Given the description of an element on the screen output the (x, y) to click on. 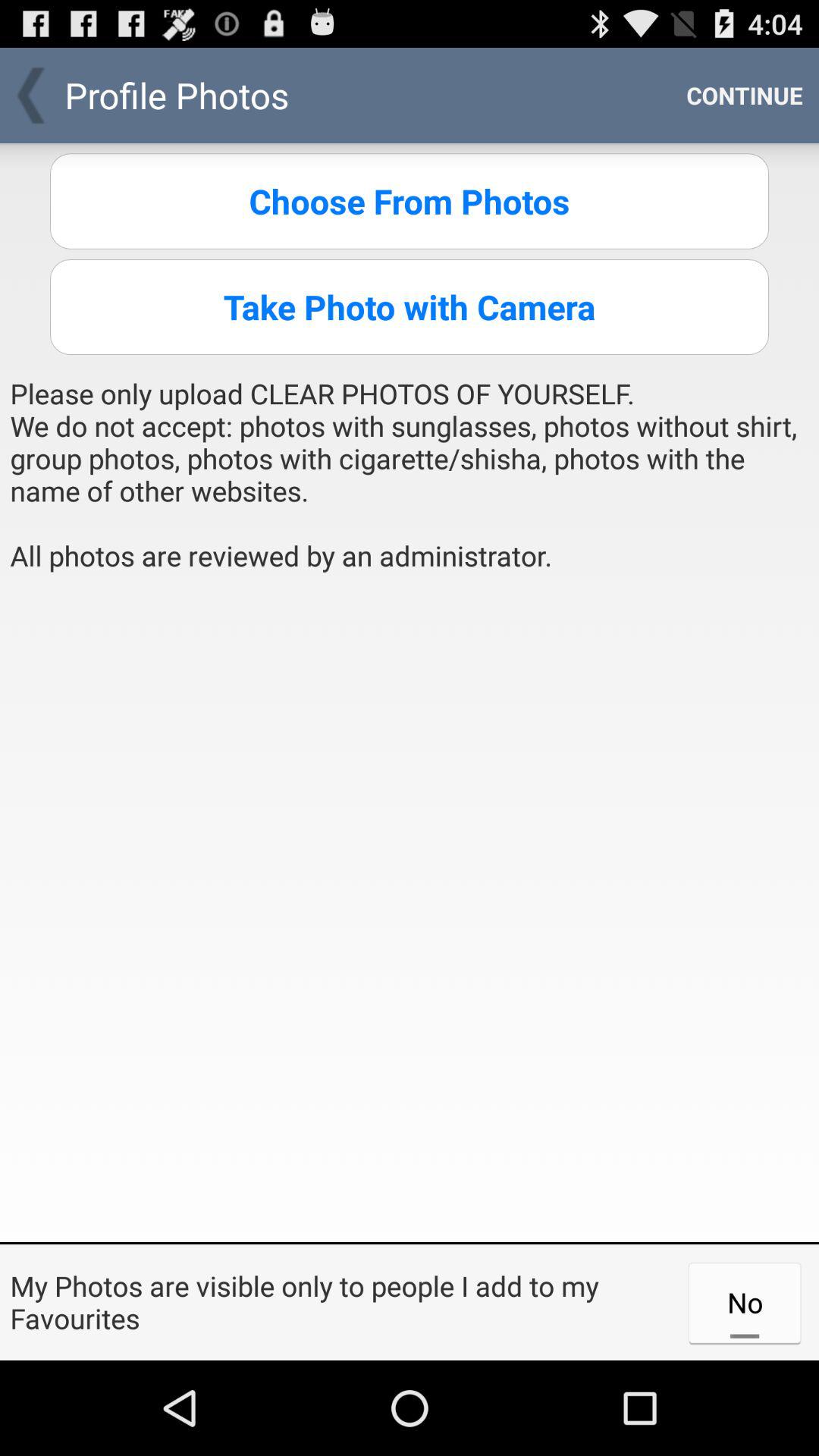
click the icon above the take photo with button (409, 201)
